Given the description of an element on the screen output the (x, y) to click on. 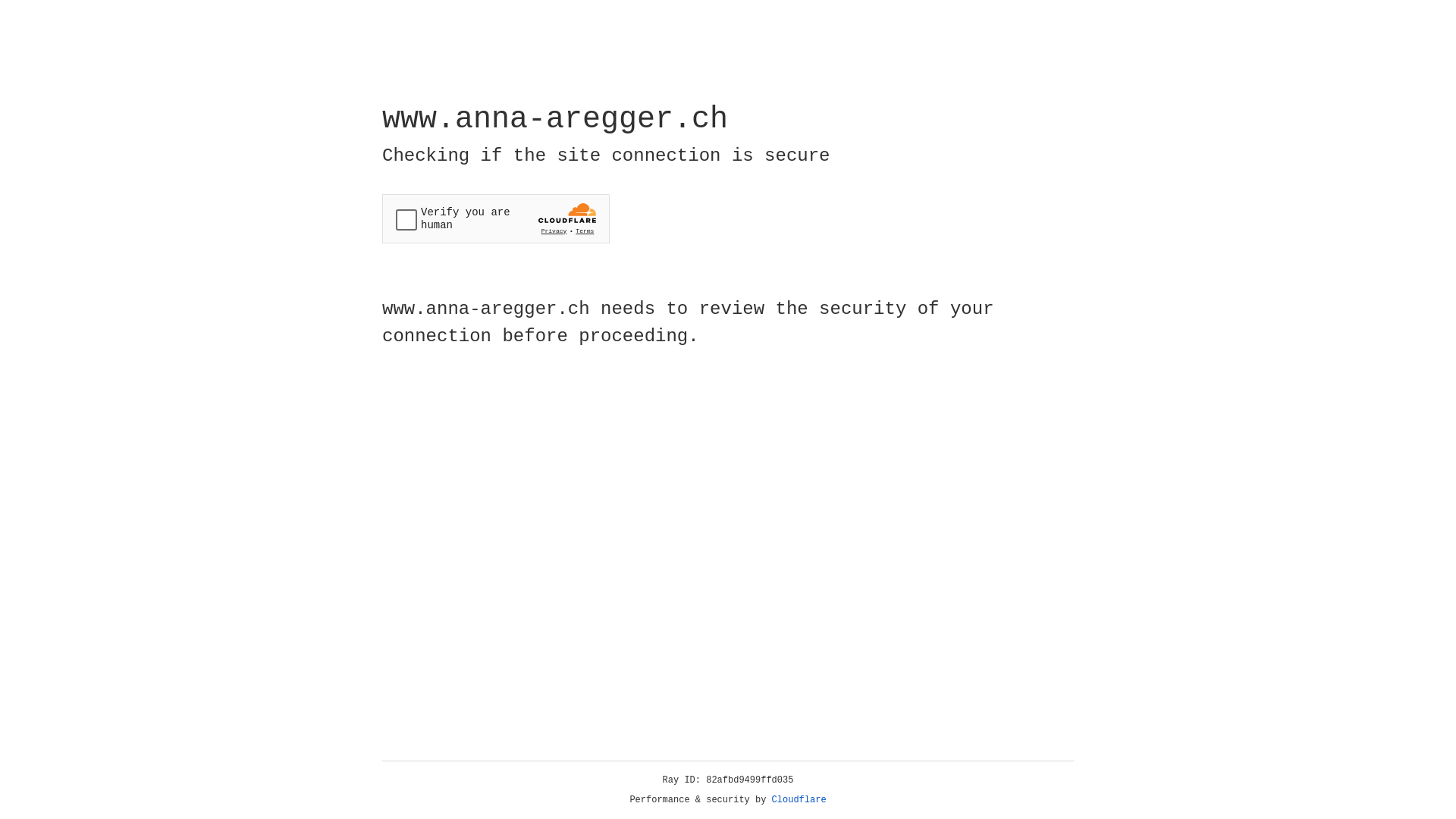
Cloudflare Element type: text (798, 799)
Widget containing a Cloudflare security challenge Element type: hover (495, 218)
